Given the description of an element on the screen output the (x, y) to click on. 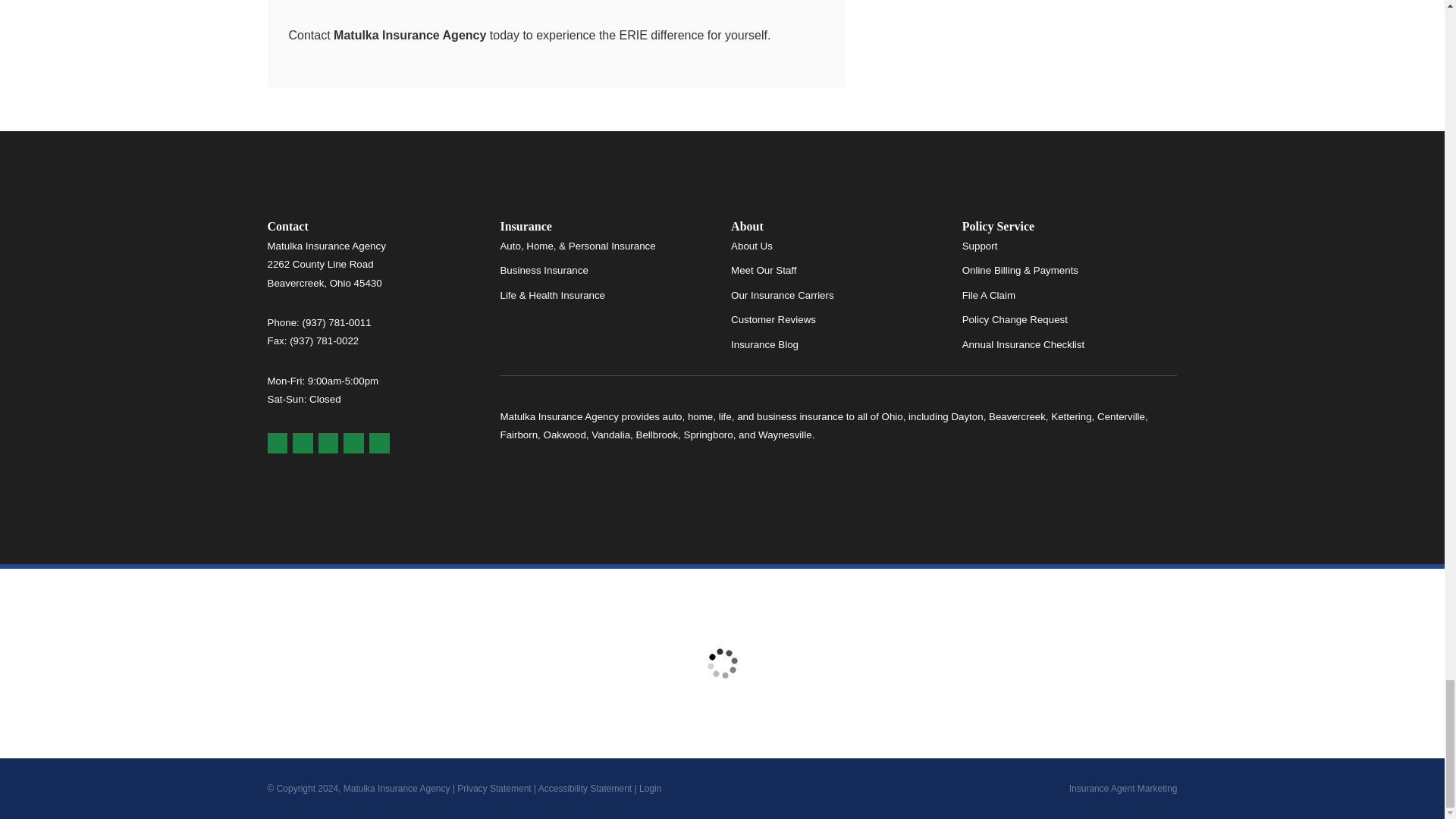
X (353, 443)
LinkedIn (379, 443)
Facebook (328, 443)
Yelp (302, 443)
Google Maps (276, 443)
